Given the description of an element on the screen output the (x, y) to click on. 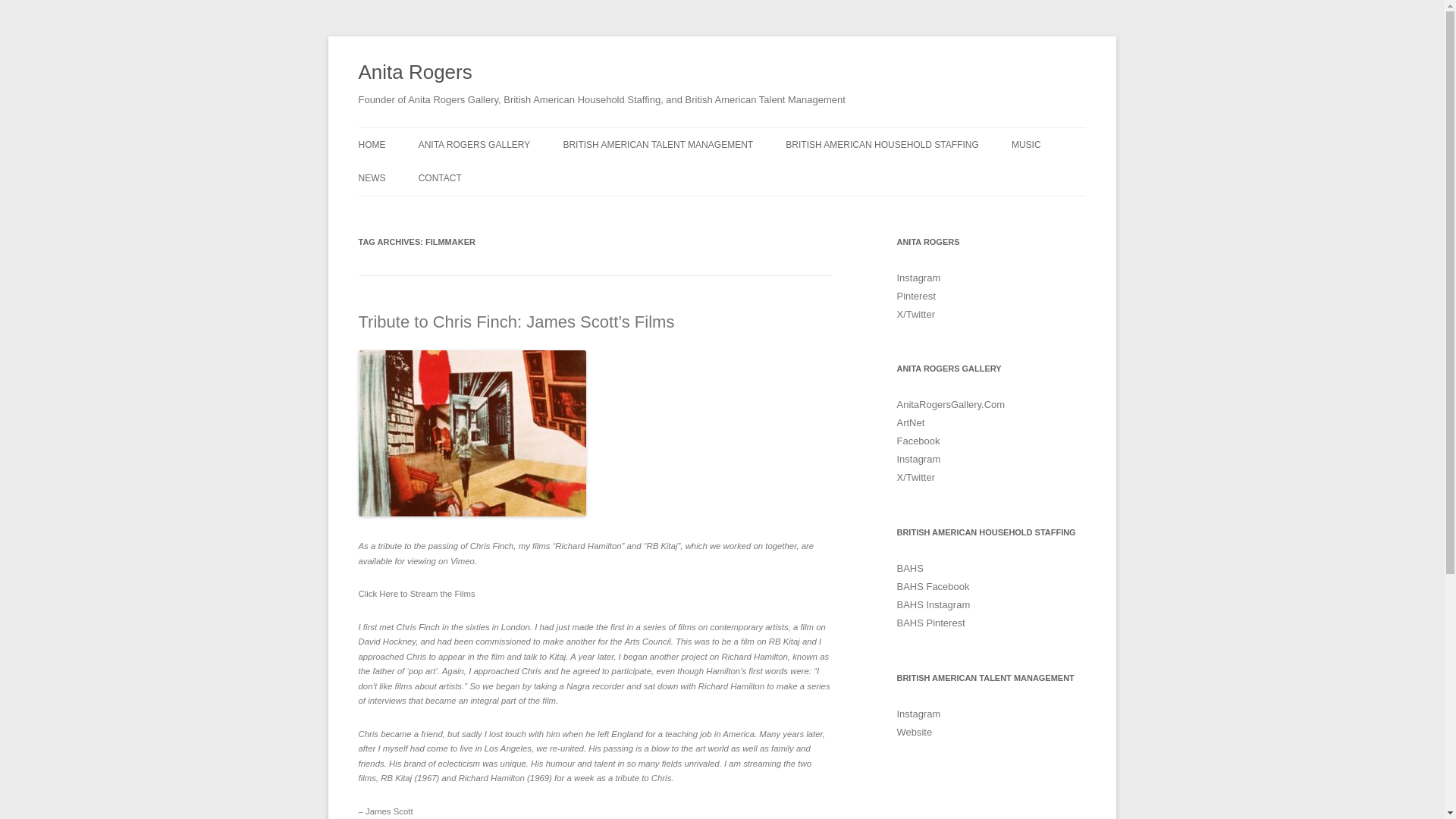
Pinterest (915, 296)
BRITISH AMERICAN TALENT MANAGEMENT (657, 144)
BRITISH AMERICAN HOUSEHOLD STAFFING (882, 144)
Facebook (917, 440)
ArtNet (910, 422)
BAHS Instagram (932, 604)
Instagram (918, 713)
BAHS (909, 568)
BAHS Facebook (932, 586)
Instagram (918, 459)
Instagram (918, 277)
Anita Rogers (414, 72)
AnitaRogersGallery.Com (950, 404)
BAHS Pinterest (929, 622)
